Given the description of an element on the screen output the (x, y) to click on. 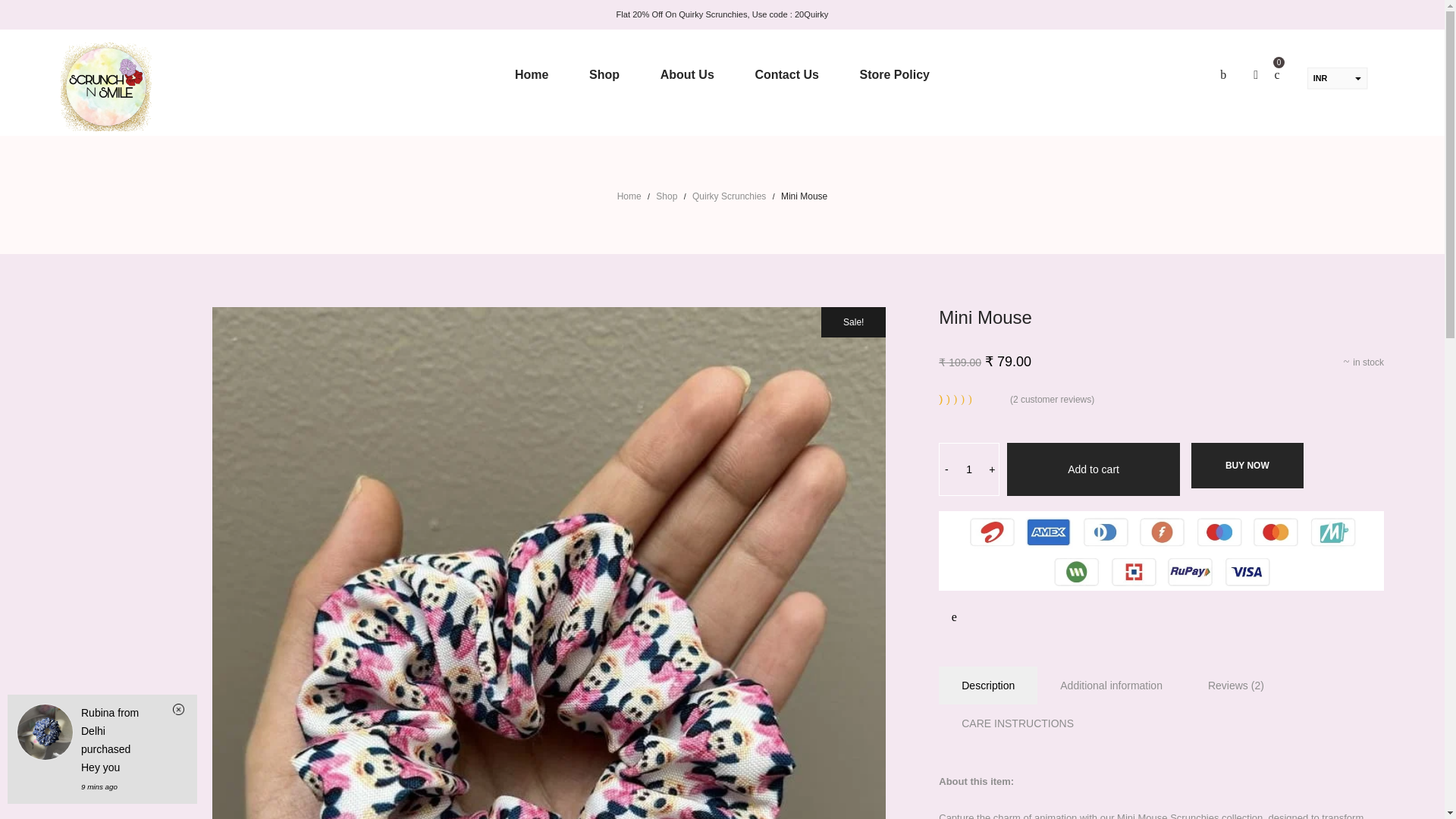
1 (968, 469)
Home (531, 74)
Scrunch N Smile (106, 85)
Shop (666, 195)
Contact Us (785, 74)
Shop (666, 195)
Shop (604, 74)
Store Policy (894, 74)
Home (629, 195)
About Us (687, 74)
0 (1277, 74)
Quirky Scrunchies (729, 195)
Home (629, 195)
